Given the description of an element on the screen output the (x, y) to click on. 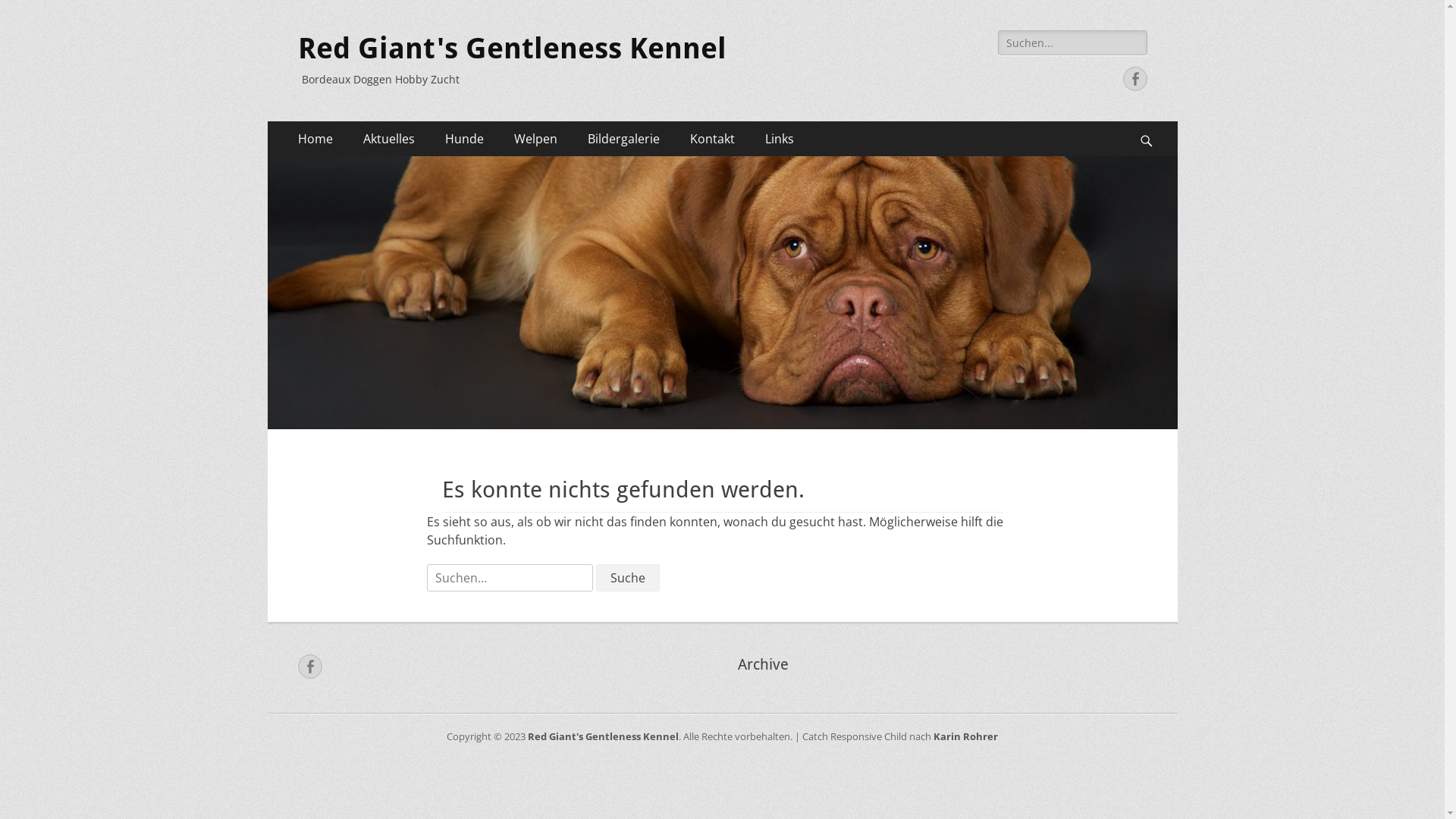
Suche Element type: text (627, 577)
Kontakt Element type: text (711, 138)
Karin Rohrer Element type: text (965, 736)
Facebook Element type: text (309, 666)
Suche nach: Element type: hover (1072, 42)
Hunde Element type: text (463, 138)
Suche nach: Element type: hover (509, 577)
Aktuelles Element type: text (388, 138)
Links Element type: text (778, 138)
Facebook Element type: text (1134, 78)
Suchen Element type: text (1154, 121)
Bildergalerie Element type: text (622, 138)
Home Element type: text (314, 138)
Red Giant's Gentleness Kennel Element type: text (511, 48)
Suche Element type: text (31, 13)
Red Giant's Gentleness Kennel Element type: text (602, 736)
Welpen Element type: text (535, 138)
